Given the description of an element on the screen output the (x, y) to click on. 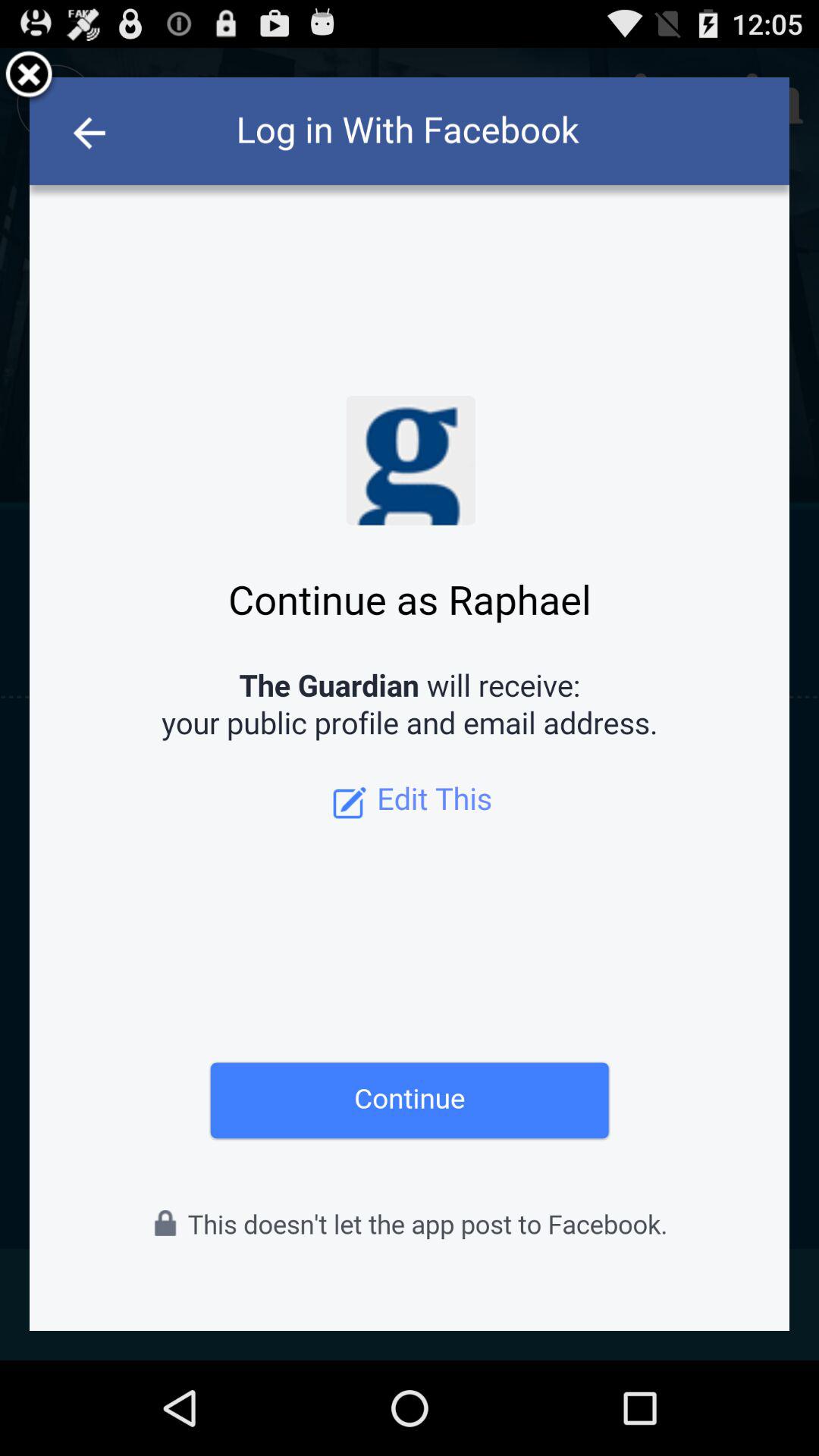
close the facebook login page (29, 76)
